Given the description of an element on the screen output the (x, y) to click on. 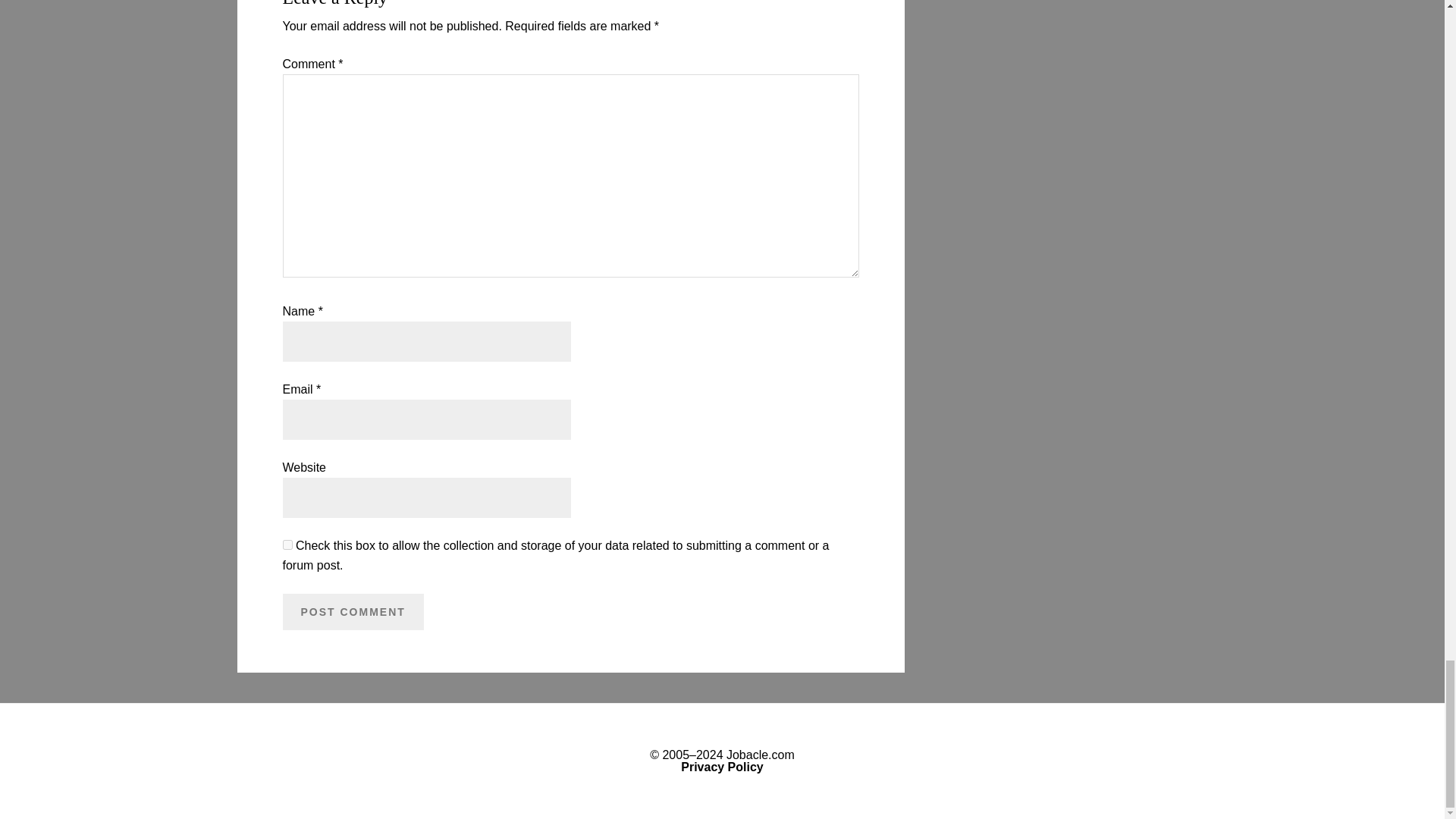
on (287, 544)
Post Comment (352, 611)
Privacy Policy (721, 766)
